Given the description of an element on the screen output the (x, y) to click on. 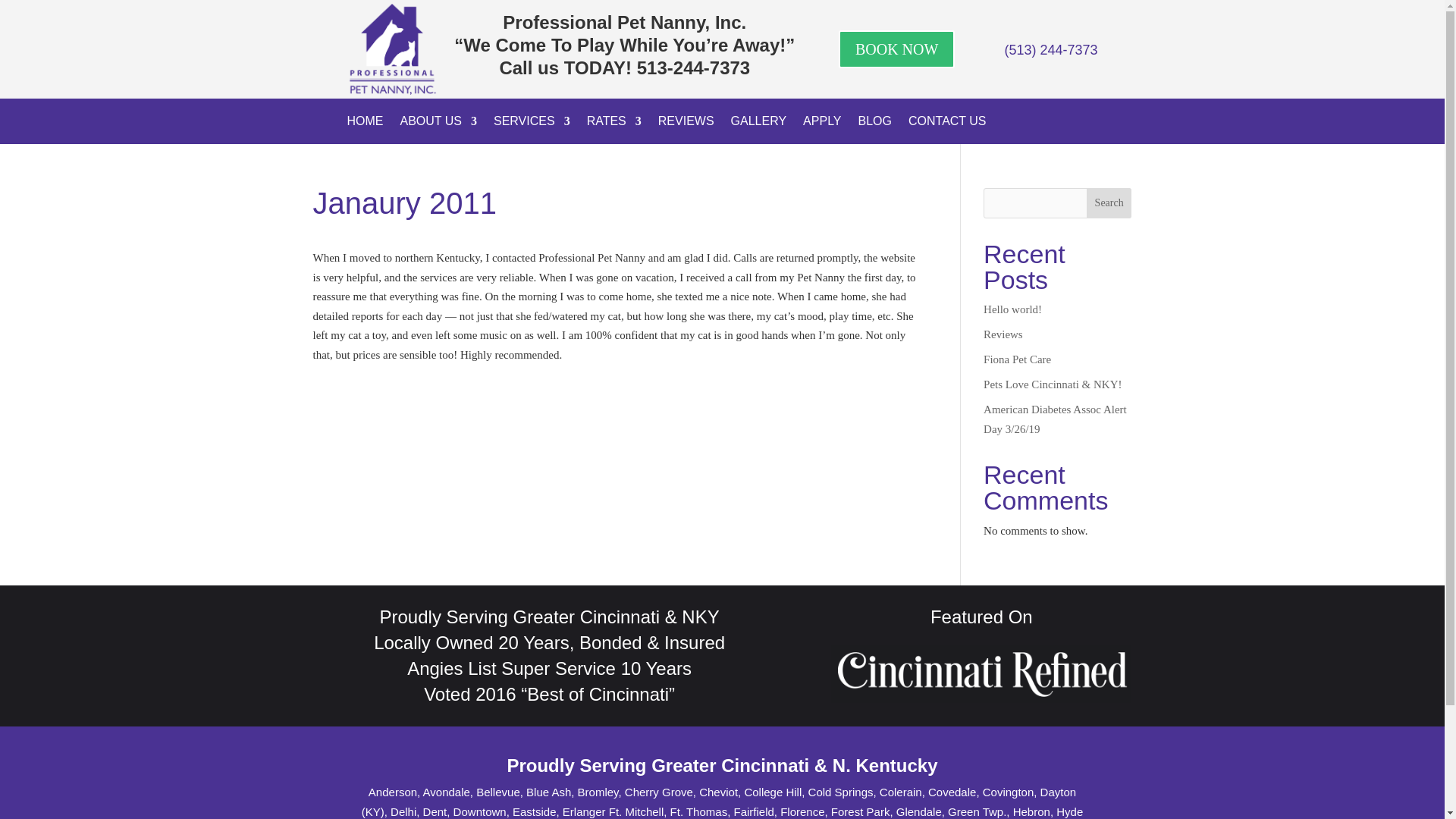
SERVICES (531, 124)
Reviews (1003, 334)
ABOUT US (438, 124)
APPLY (822, 124)
GALLERY (758, 124)
logo (392, 49)
BLOG (875, 124)
Hello world! (1013, 309)
BOOK NOW (896, 48)
REVIEWS (686, 124)
